Given the description of an element on the screen output the (x, y) to click on. 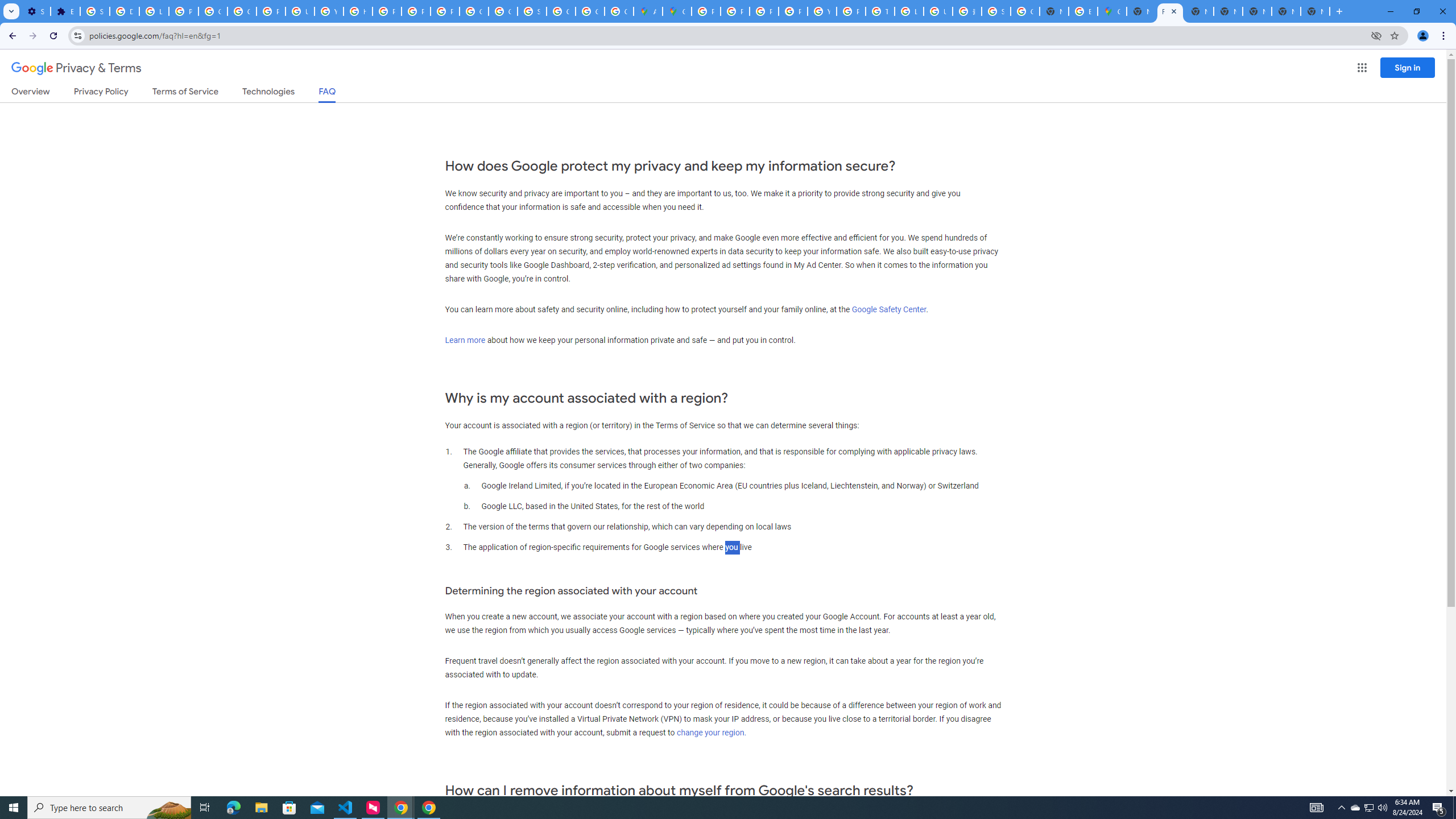
Explore new street-level details - Google Maps Help (1082, 11)
Google Maps (1111, 11)
YouTube (327, 11)
Sign in - Google Accounts (996, 11)
